Given the description of an element on the screen output the (x, y) to click on. 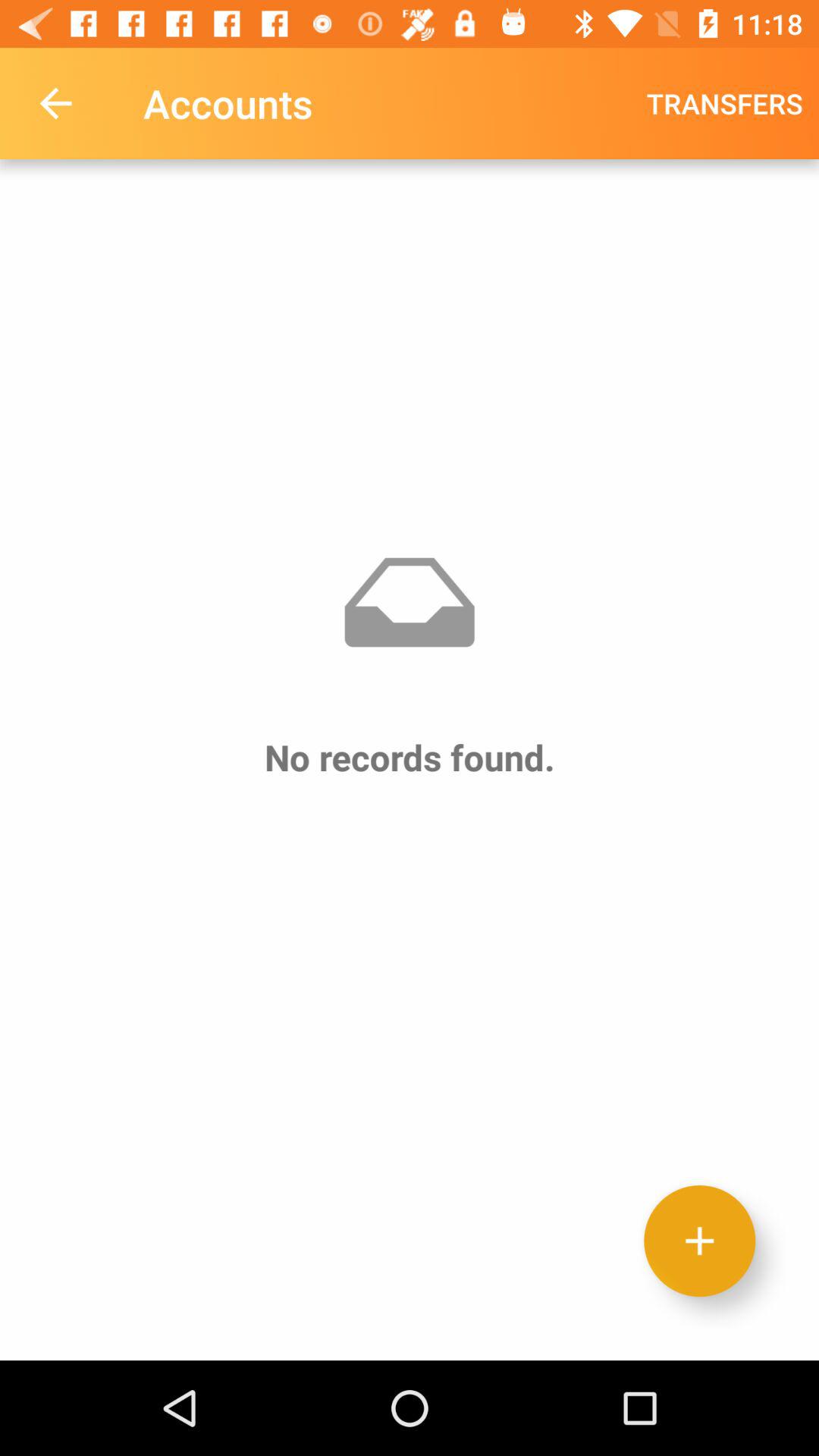
press item next to accounts icon (55, 103)
